Given the description of an element on the screen output the (x, y) to click on. 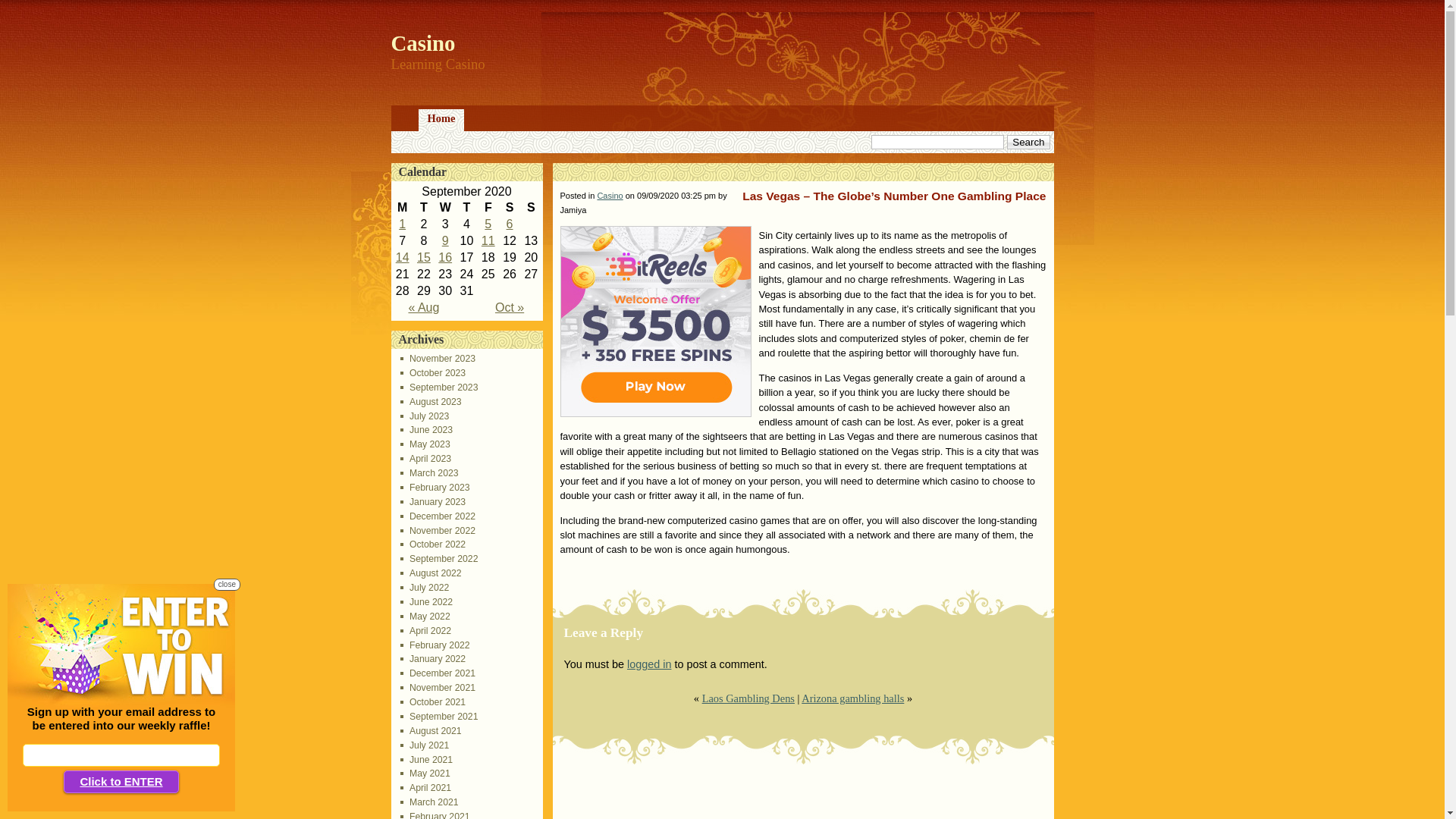
Search Element type: text (1028, 141)
June 2021 Element type: text (426, 759)
April 2021 Element type: text (425, 787)
February 2022 Element type: text (435, 645)
15 Element type: text (423, 257)
February 2023 Element type: text (435, 487)
June 2022 Element type: text (426, 601)
October 2022 Element type: text (432, 544)
December 2021 Element type: text (437, 673)
September 2022 Element type: text (439, 558)
November 2021 Element type: text (437, 687)
Home Element type: text (441, 120)
May 2021 Element type: text (425, 773)
6 Element type: text (509, 223)
Arizona gambling halls Element type: text (852, 698)
14 Element type: text (402, 257)
August 2023 Element type: text (430, 401)
November 2023 Element type: text (437, 358)
July 2022 Element type: text (424, 587)
July 2021 Element type: text (424, 745)
logged in Element type: text (649, 664)
April 2022 Element type: text (425, 630)
March 2021 Element type: text (429, 802)
Click to ENTER Element type: text (120, 781)
August 2021 Element type: text (430, 730)
9 Element type: text (445, 240)
October 2023 Element type: text (432, 372)
Casino Element type: text (609, 195)
July 2023 Element type: text (424, 416)
Laos Gambling Dens Element type: text (748, 698)
January 2022 Element type: text (432, 658)
June 2023 Element type: text (426, 429)
11 Element type: text (488, 240)
March 2023 Element type: text (429, 472)
May 2022 Element type: text (425, 616)
1 Element type: text (401, 223)
September 2023 Element type: text (439, 387)
September 2021 Element type: text (439, 716)
November 2022 Element type: text (437, 530)
16 Element type: text (444, 257)
January 2023 Element type: text (432, 501)
May 2023 Element type: text (425, 444)
December 2022 Element type: text (437, 516)
August 2022 Element type: text (430, 572)
April 2023 Element type: text (425, 458)
    Element type: text (405, 119)
Casino Element type: text (423, 43)
October 2021 Element type: text (432, 701)
5 Element type: text (487, 223)
